Given the description of an element on the screen output the (x, y) to click on. 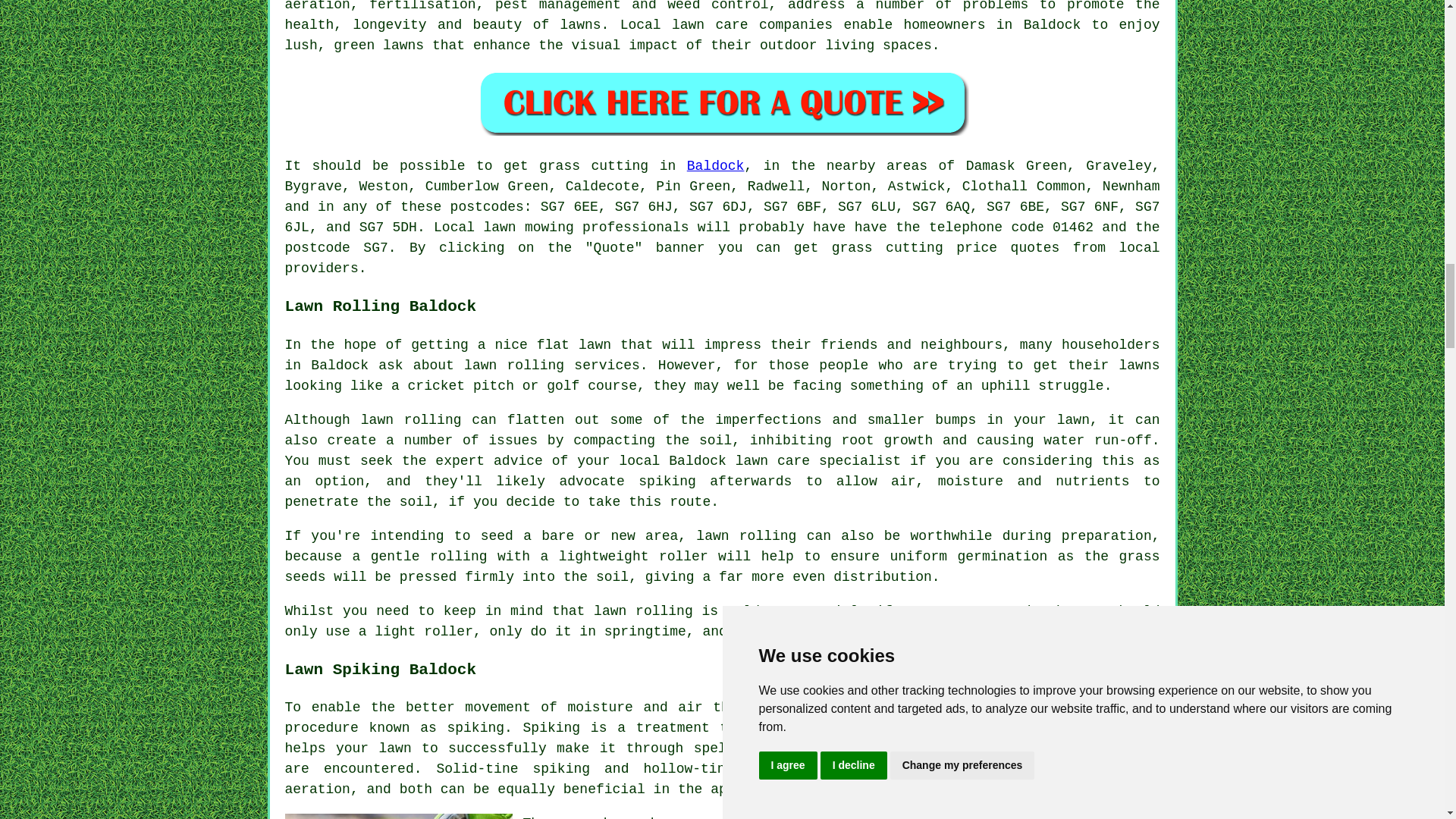
grass cutting (592, 165)
grass cutting (887, 247)
Gardener Quotes in Baldock Hertfordshire (722, 102)
Lawn Spiking Baldock Hertfordshire (398, 816)
lawn mowing (528, 227)
